Given the description of an element on the screen output the (x, y) to click on. 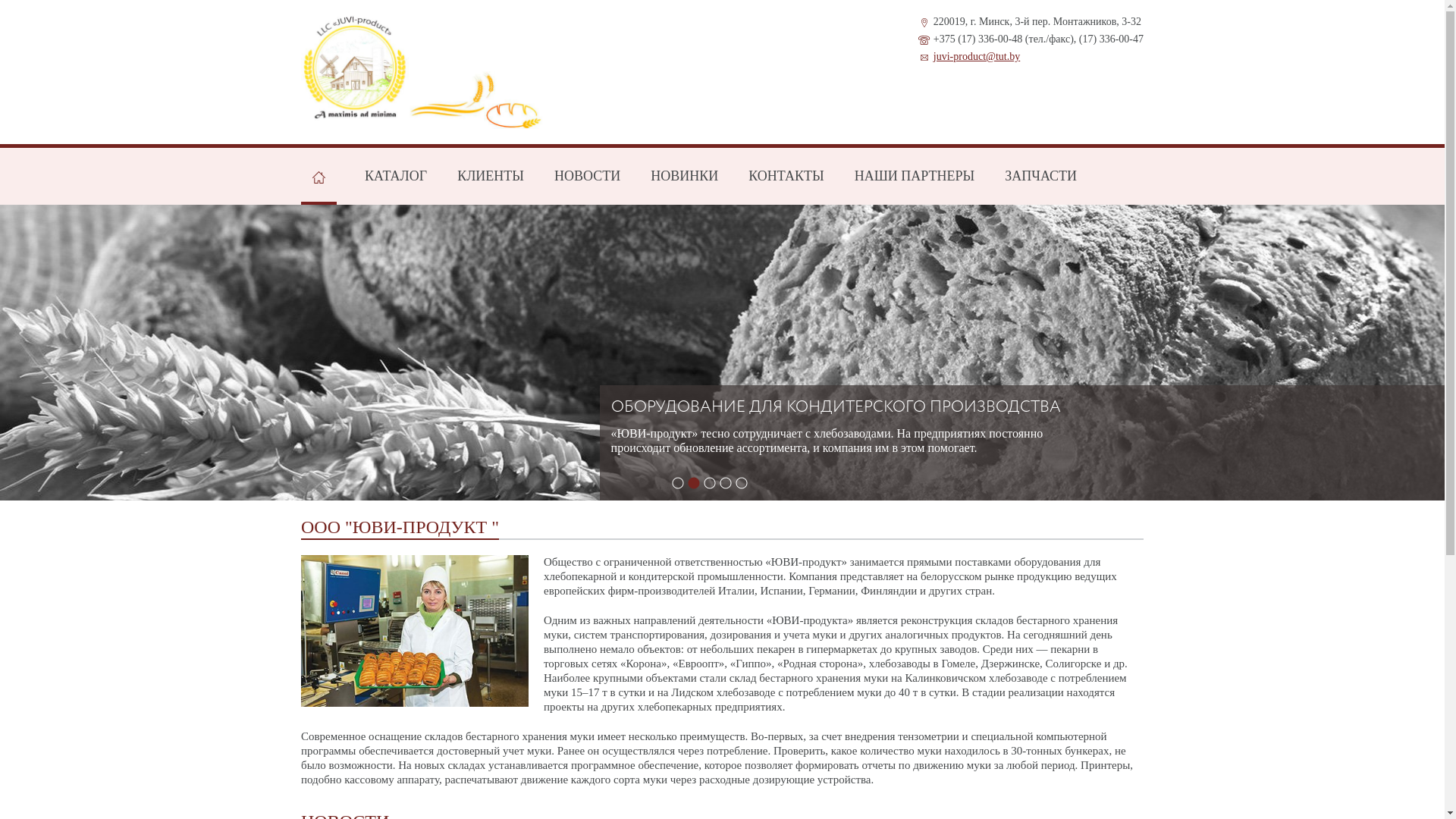
juvi-product@tut.by Element type: text (976, 56)
